Given the description of an element on the screen output the (x, y) to click on. 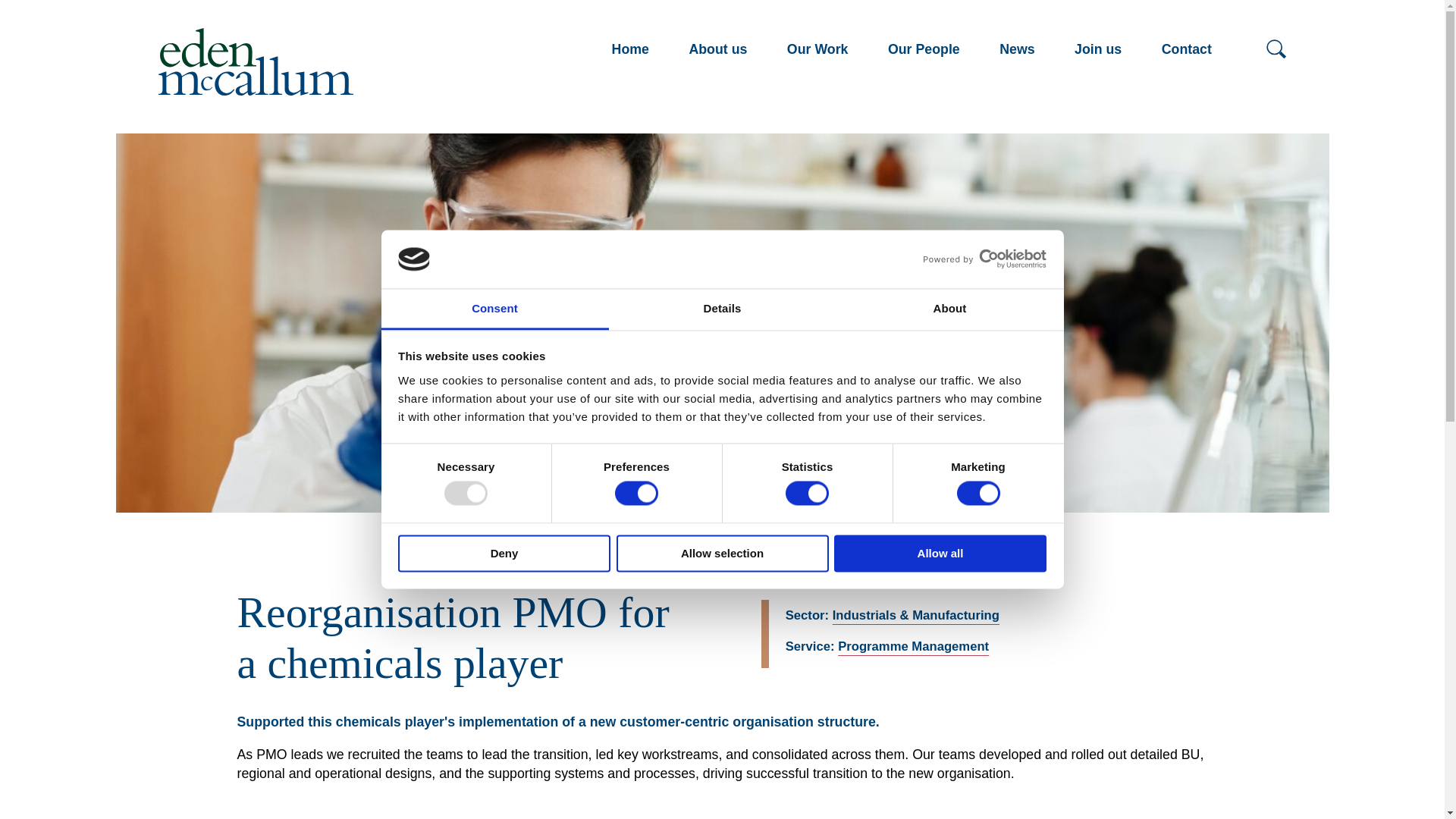
Allow selection (721, 552)
Consent (494, 309)
Deny (503, 552)
About (948, 309)
Details (721, 309)
